Given the description of an element on the screen output the (x, y) to click on. 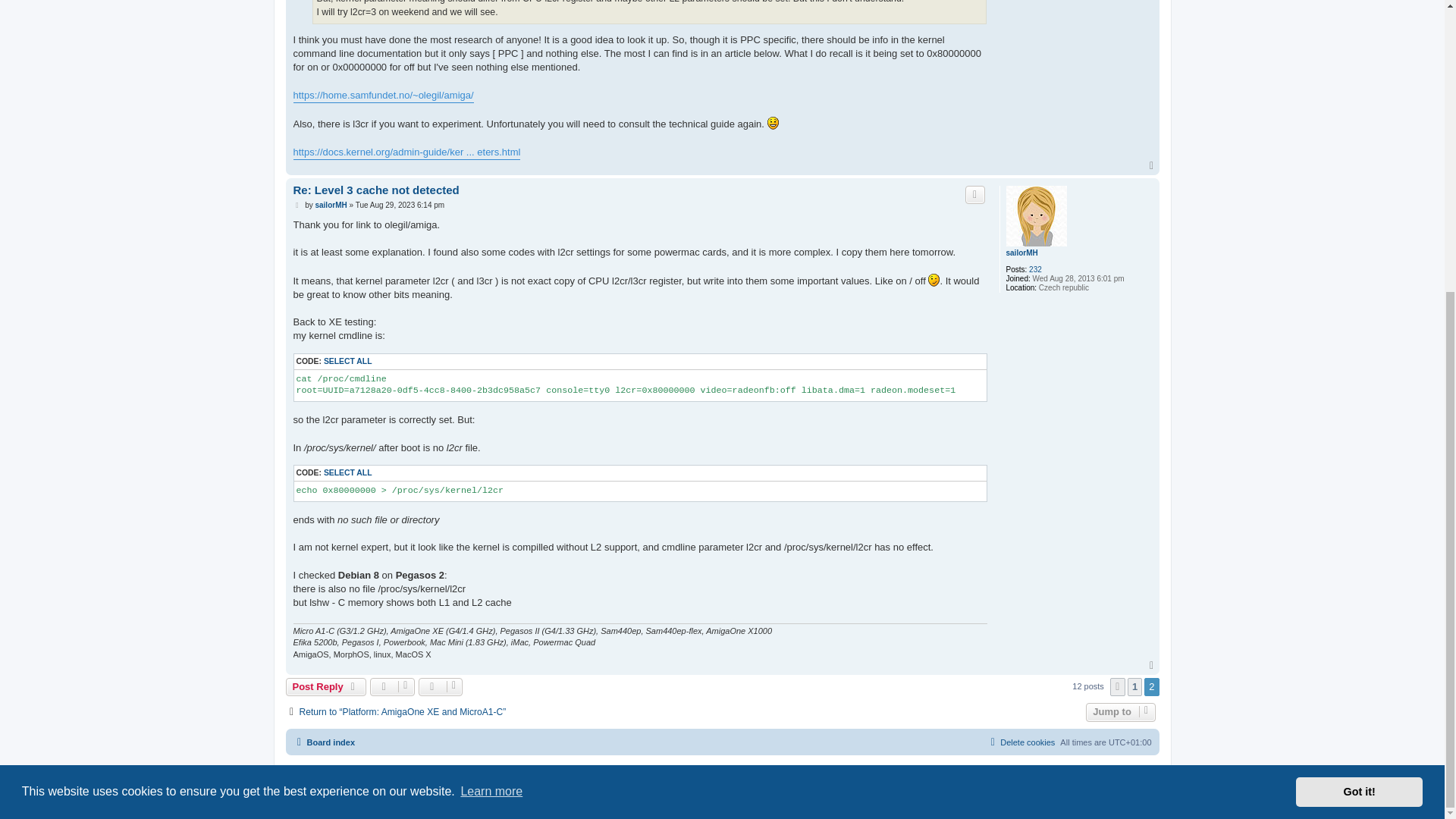
Top (1151, 165)
Got it! (1358, 345)
Learn more (491, 345)
Top (1151, 165)
